Given the description of an element on the screen output the (x, y) to click on. 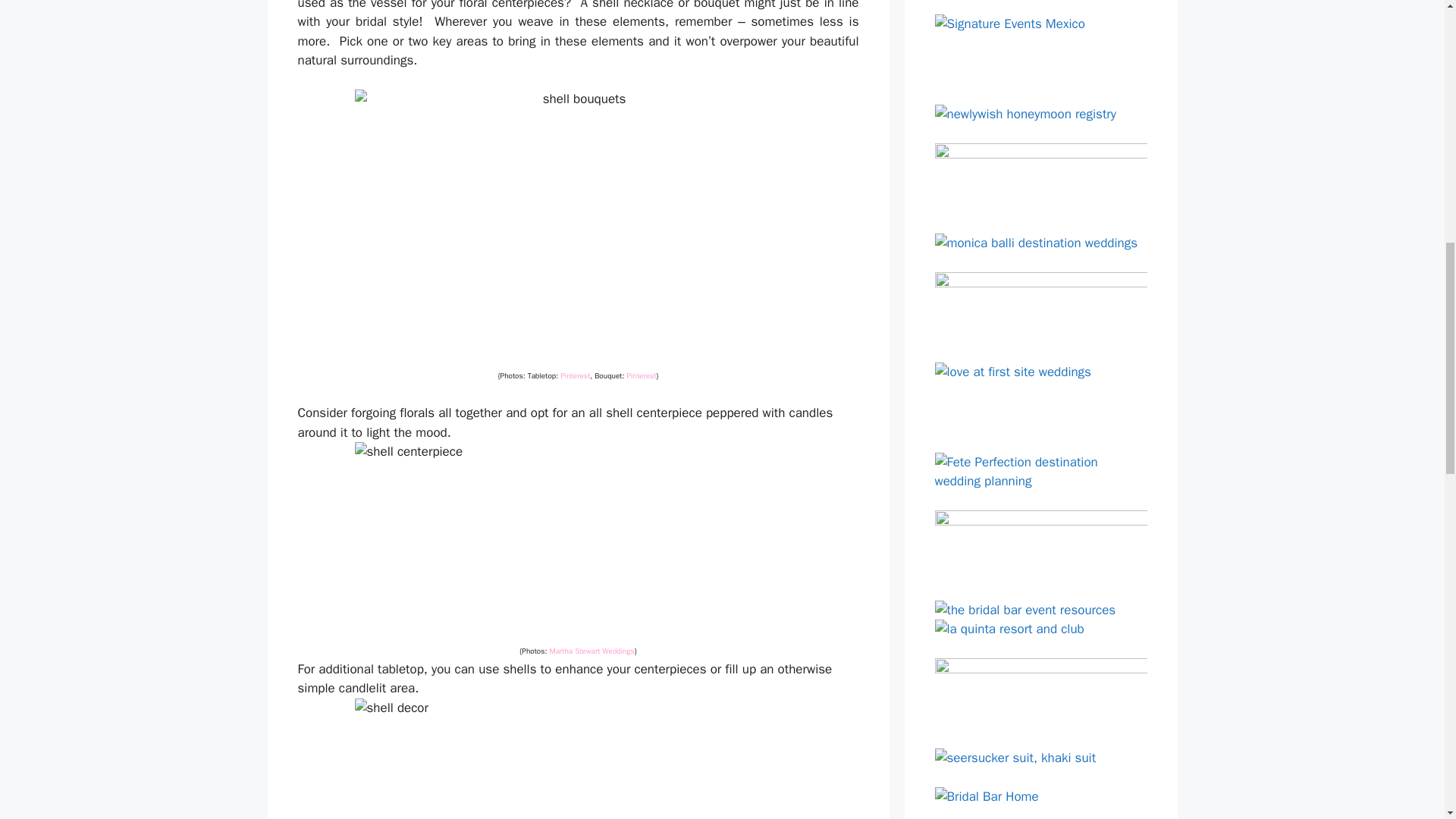
Fete Perfection  (1040, 471)
shell decor (578, 758)
Martha Stewart Weddings (590, 651)
Signature Events Mexico (1040, 49)
Martha Stewart Weddings (590, 651)
Bridal Bar logo 6 (1040, 178)
love at first site weddings (1040, 397)
shell bouquets (578, 226)
shell centerpiece (578, 540)
Pinterest (641, 375)
